Given the description of an element on the screen output the (x, y) to click on. 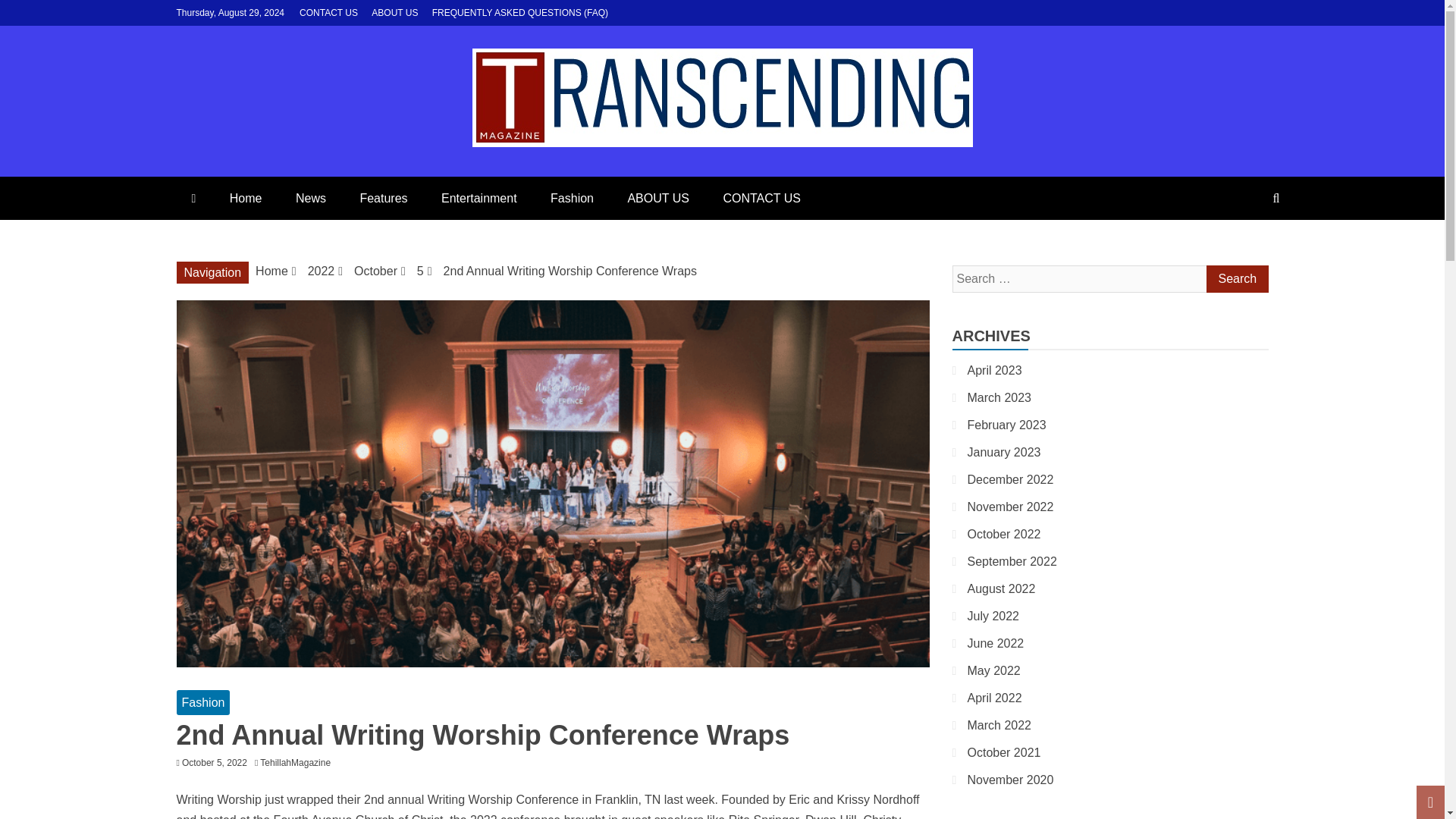
ABOUT US (394, 12)
ABOUT US (657, 198)
Fashion (203, 702)
Fashion (571, 198)
News (310, 198)
October (375, 270)
CONTACT US (328, 12)
Features (382, 198)
Home (246, 198)
TEHILLAH MAGAZINE (438, 182)
